Given the description of an element on the screen output the (x, y) to click on. 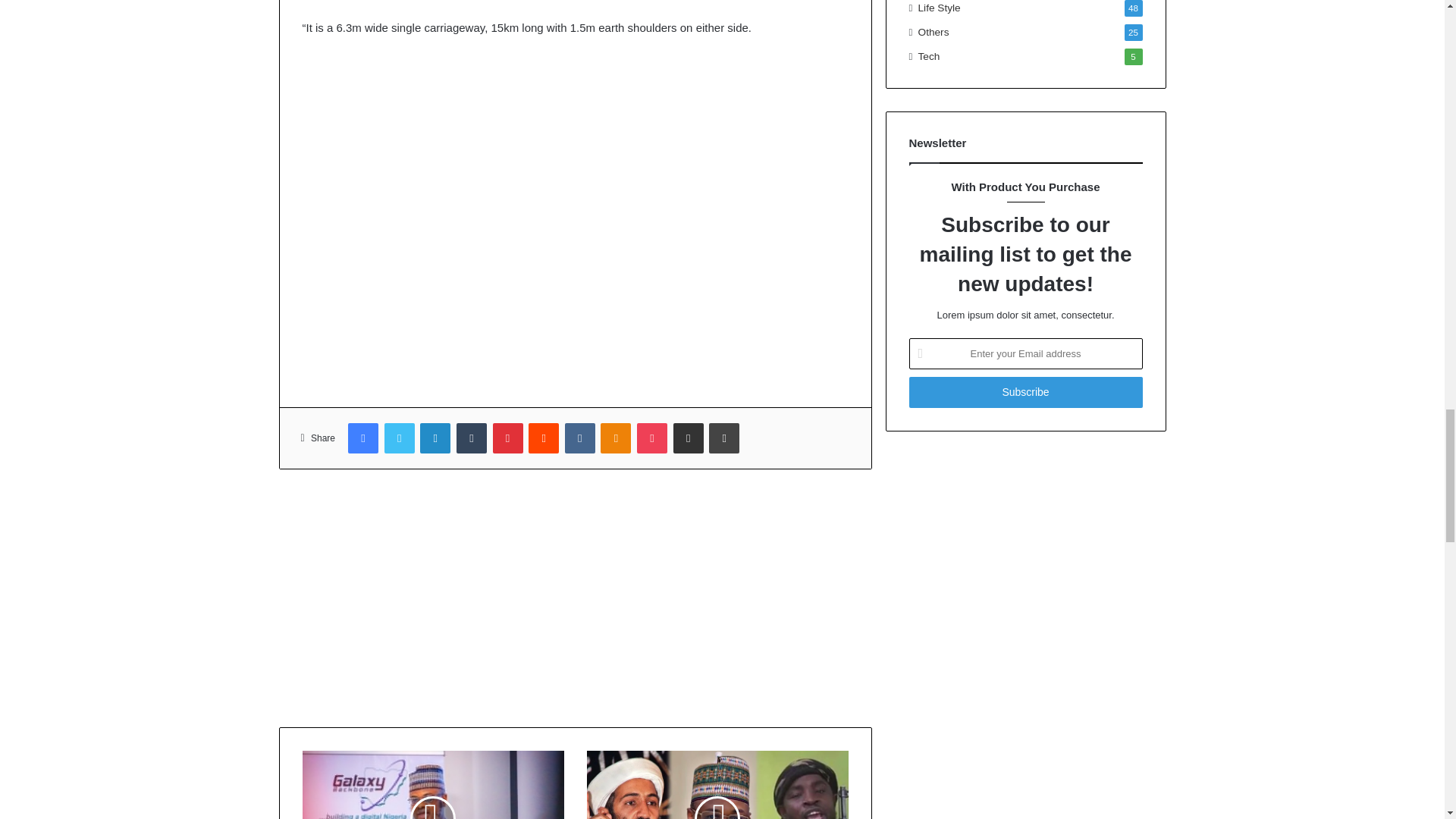
Subscribe (1025, 391)
